Given the description of an element on the screen output the (x, y) to click on. 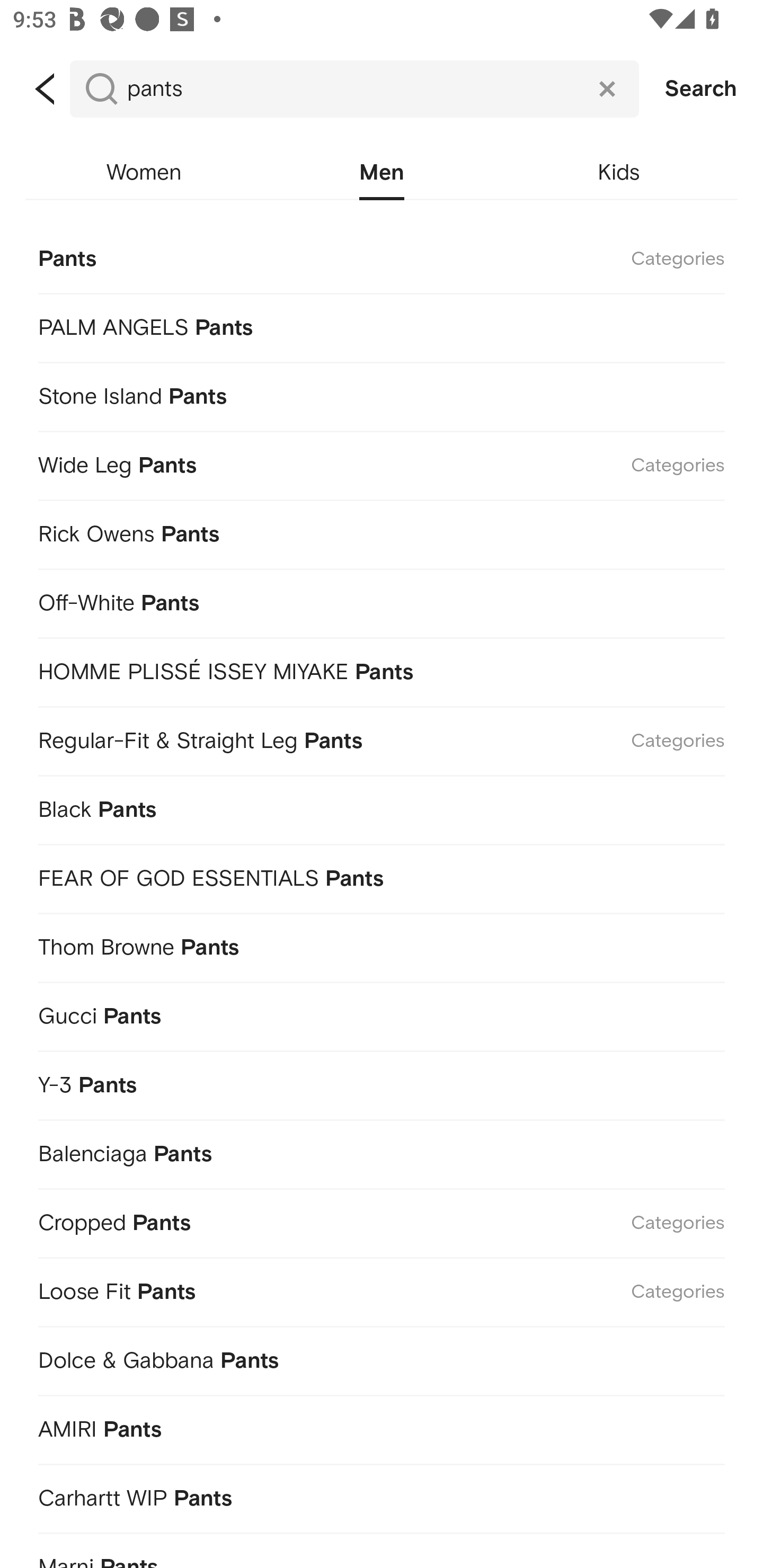
pants (354, 89)
Search (701, 89)
Women (143, 172)
Kids (618, 172)
Pants Categories (381, 257)
PALM ANGELS Pants (381, 324)
Stone Island Pants (381, 393)
Wide Leg Pants Categories (381, 462)
Rick Owens Pants (381, 531)
Off-White Pants (381, 600)
HOMME PLISSÉ ISSEY MIYAKE Pants (381, 669)
Regular-Fit & Straight Leg Pants Categories (381, 738)
Black Pants (381, 806)
FEAR OF GOD ESSENTIALS Pants (381, 874)
Thom Browne Pants (381, 943)
Gucci Pants (381, 1012)
Y-3 Pants (381, 1081)
Balenciaga Pants (381, 1150)
Cropped Pants Categories (381, 1219)
Loose Fit Pants Categories (381, 1288)
Dolce & Gabbana Pants (381, 1357)
AMIRI Pants (381, 1426)
Carhartt WIP Pants (381, 1495)
